Given the description of an element on the screen output the (x, y) to click on. 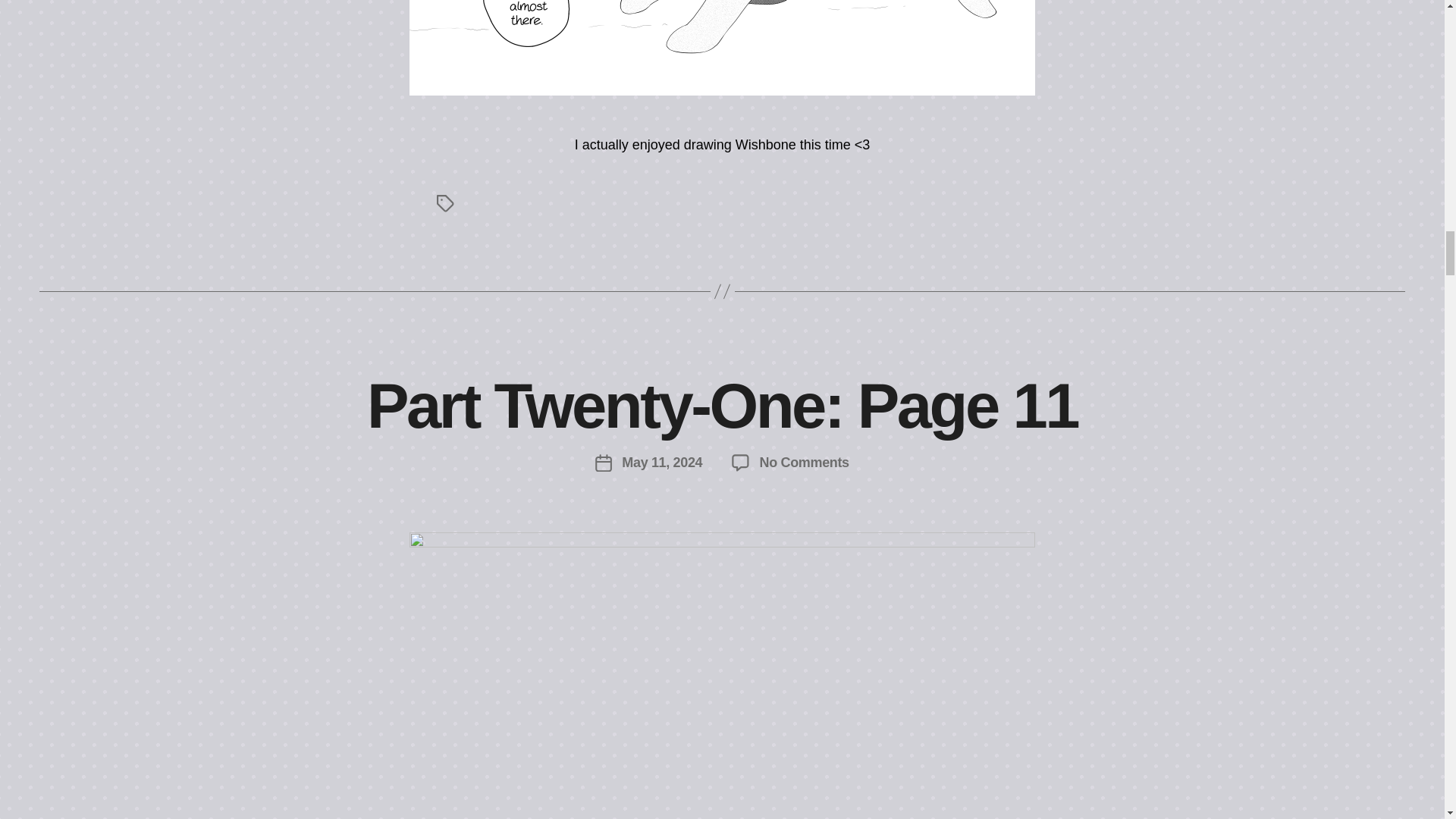
Part Twenty-One: Page 11 (721, 406)
May 11, 2024 (804, 462)
